Given the description of an element on the screen output the (x, y) to click on. 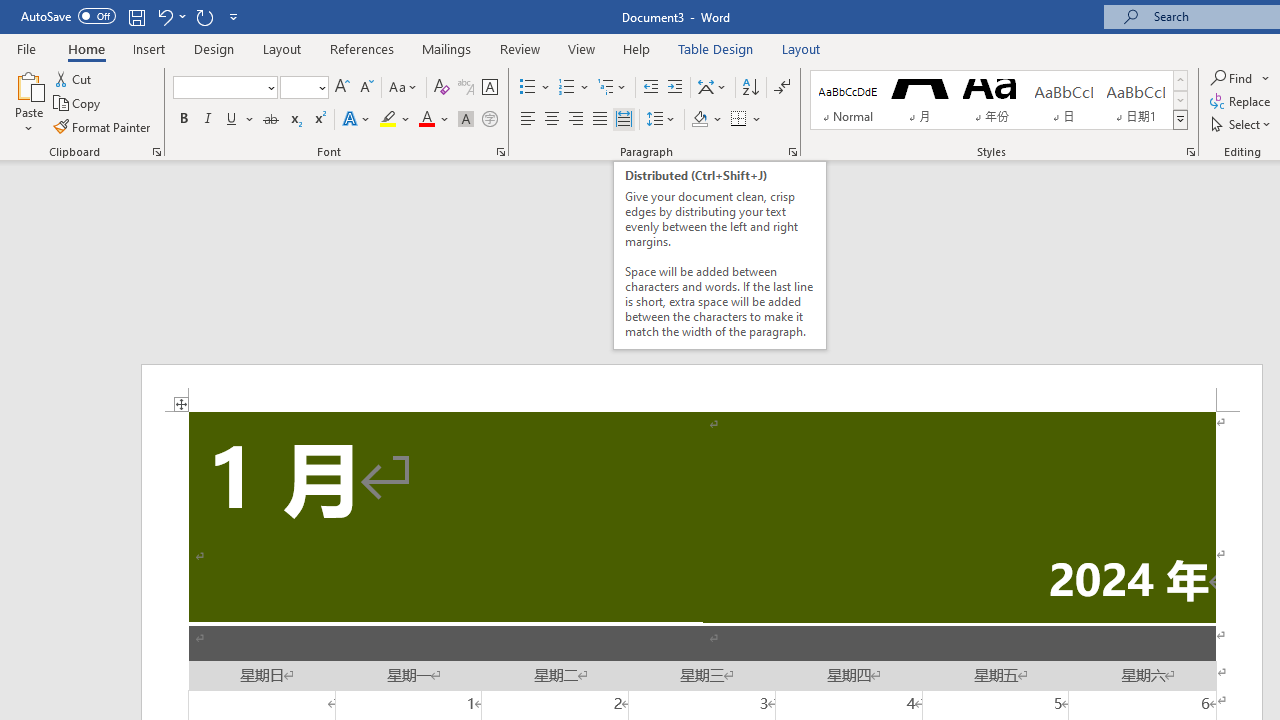
Header -Section 1- (701, 387)
